Given the description of an element on the screen output the (x, y) to click on. 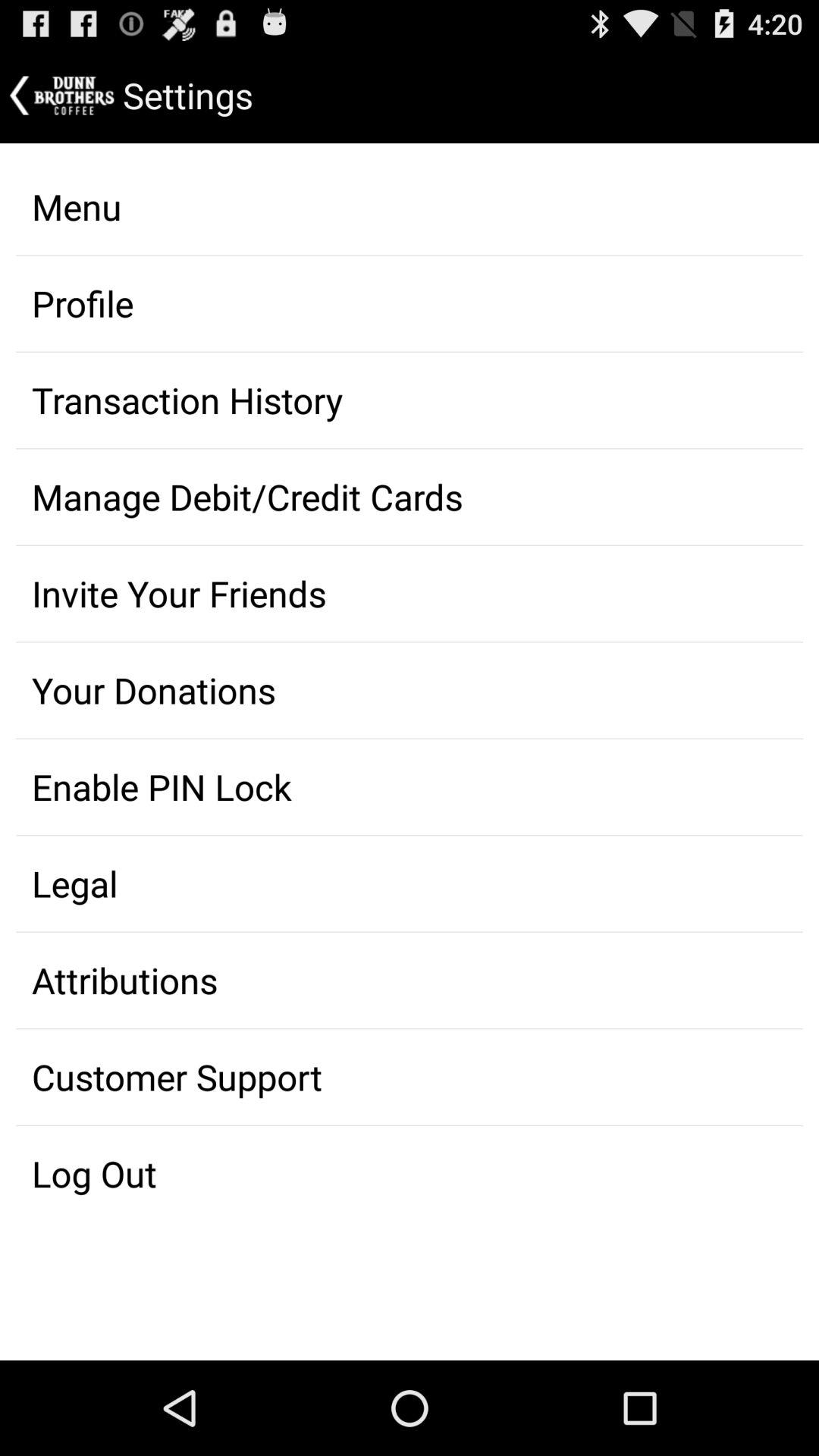
turn off item above the your donations item (409, 593)
